Given the description of an element on the screen output the (x, y) to click on. 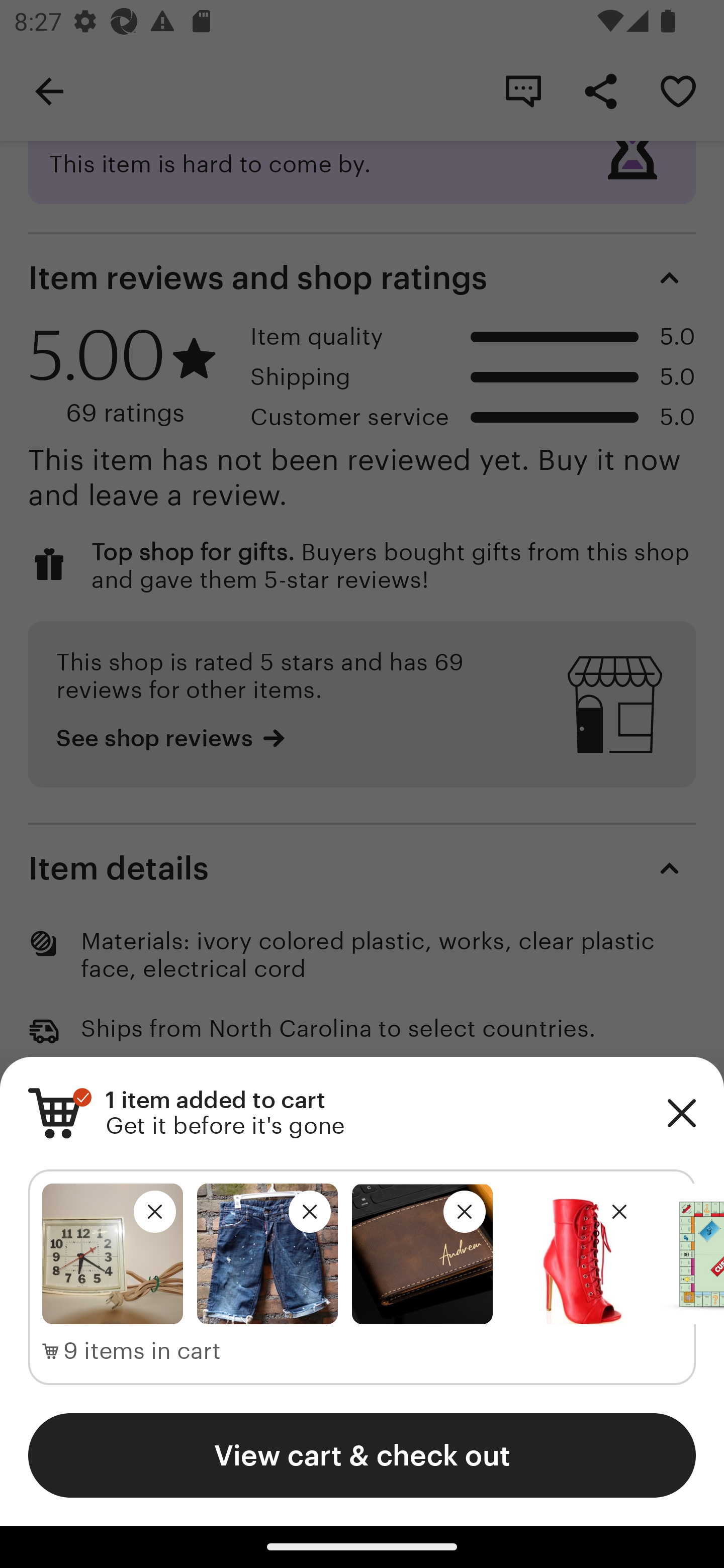
9 items in cart (131, 1351)
View cart & check out (361, 1454)
